Given the description of an element on the screen output the (x, y) to click on. 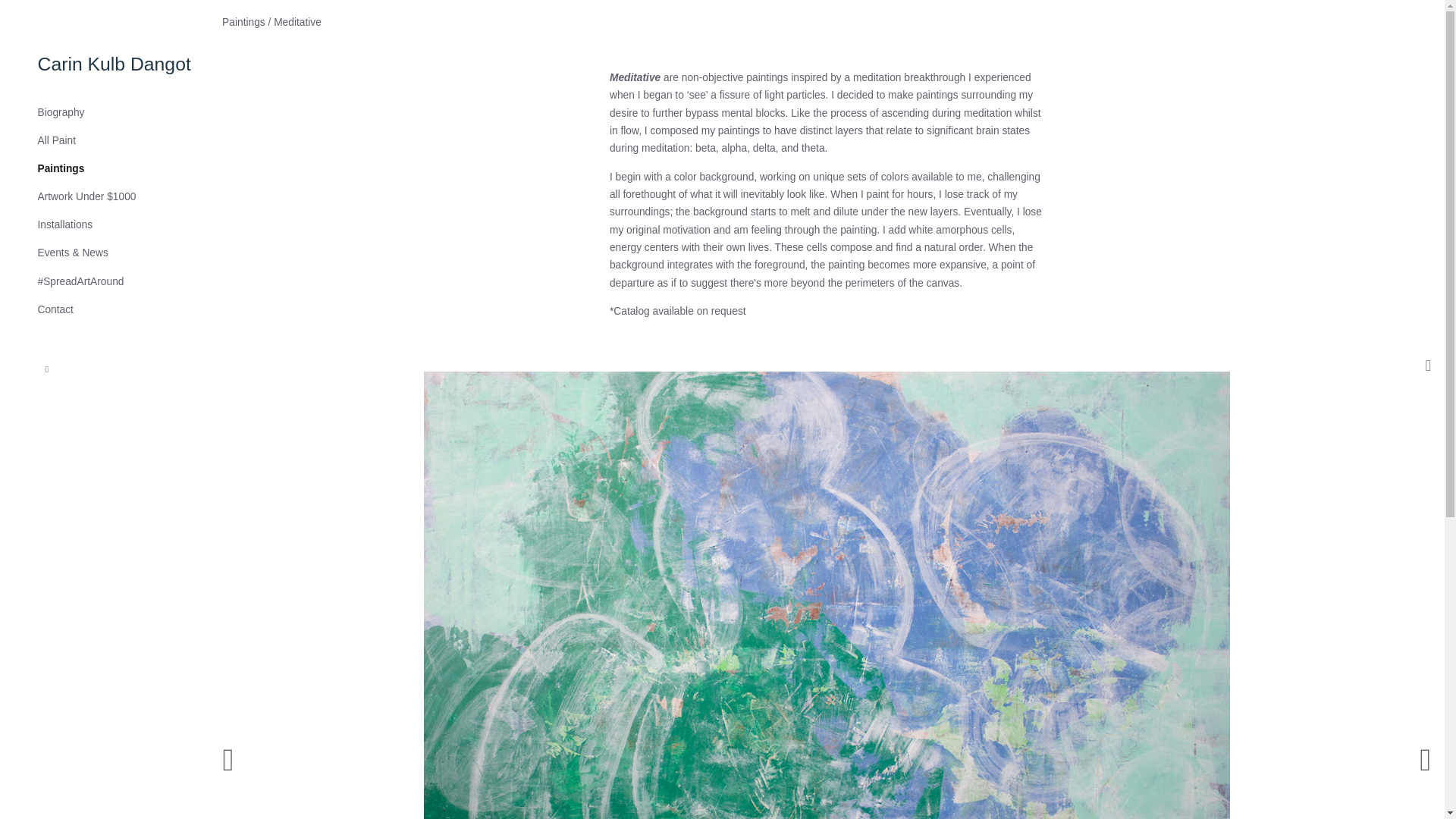
Biography (60, 112)
Paintings (243, 21)
Paintings (60, 168)
All Paint (56, 140)
Installations (65, 224)
Contact (55, 309)
Carin Kulb Dangot (113, 64)
